Given the description of an element on the screen output the (x, y) to click on. 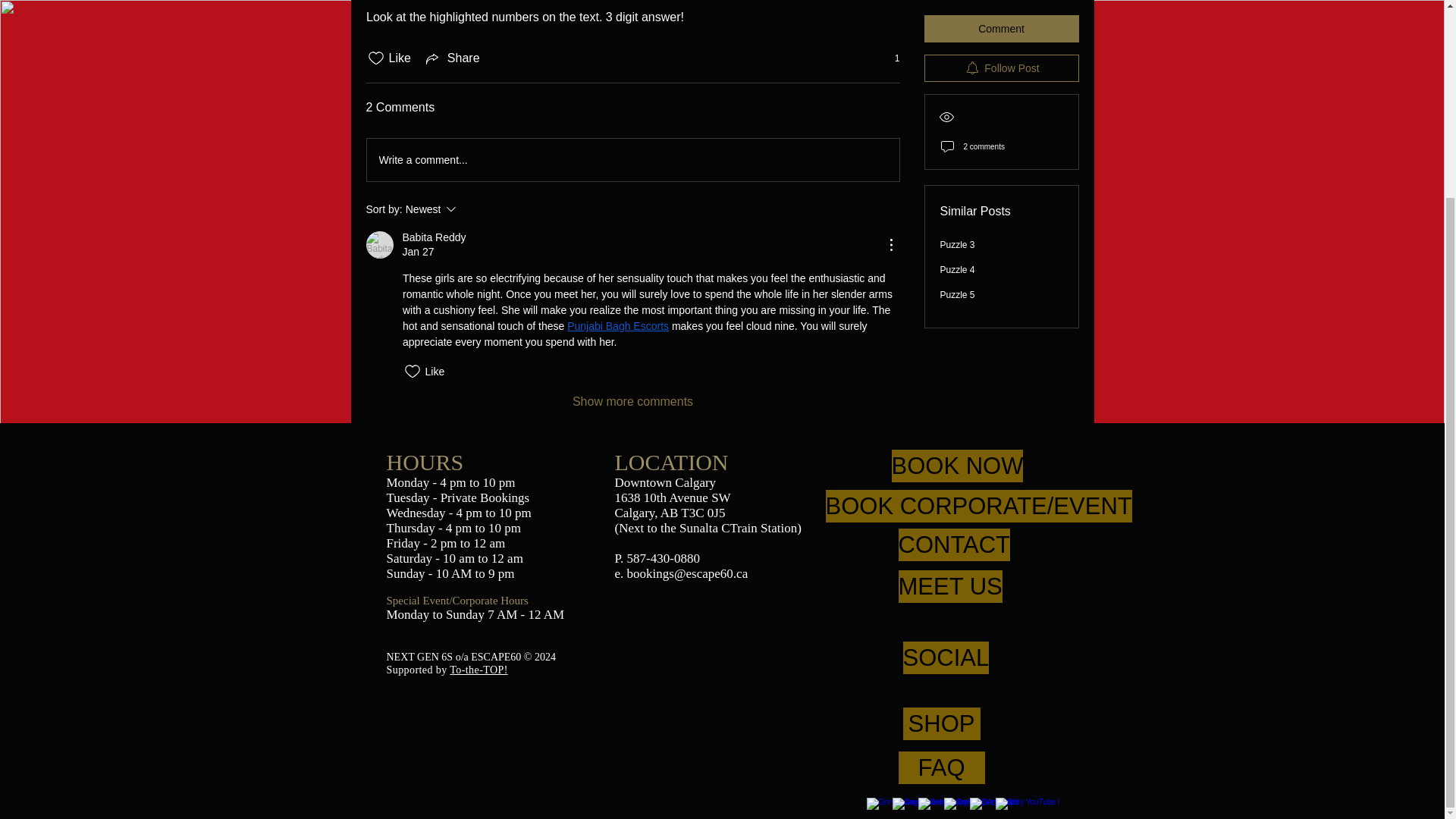
Babita Reddy (379, 244)
